Given the description of an element on the screen output the (x, y) to click on. 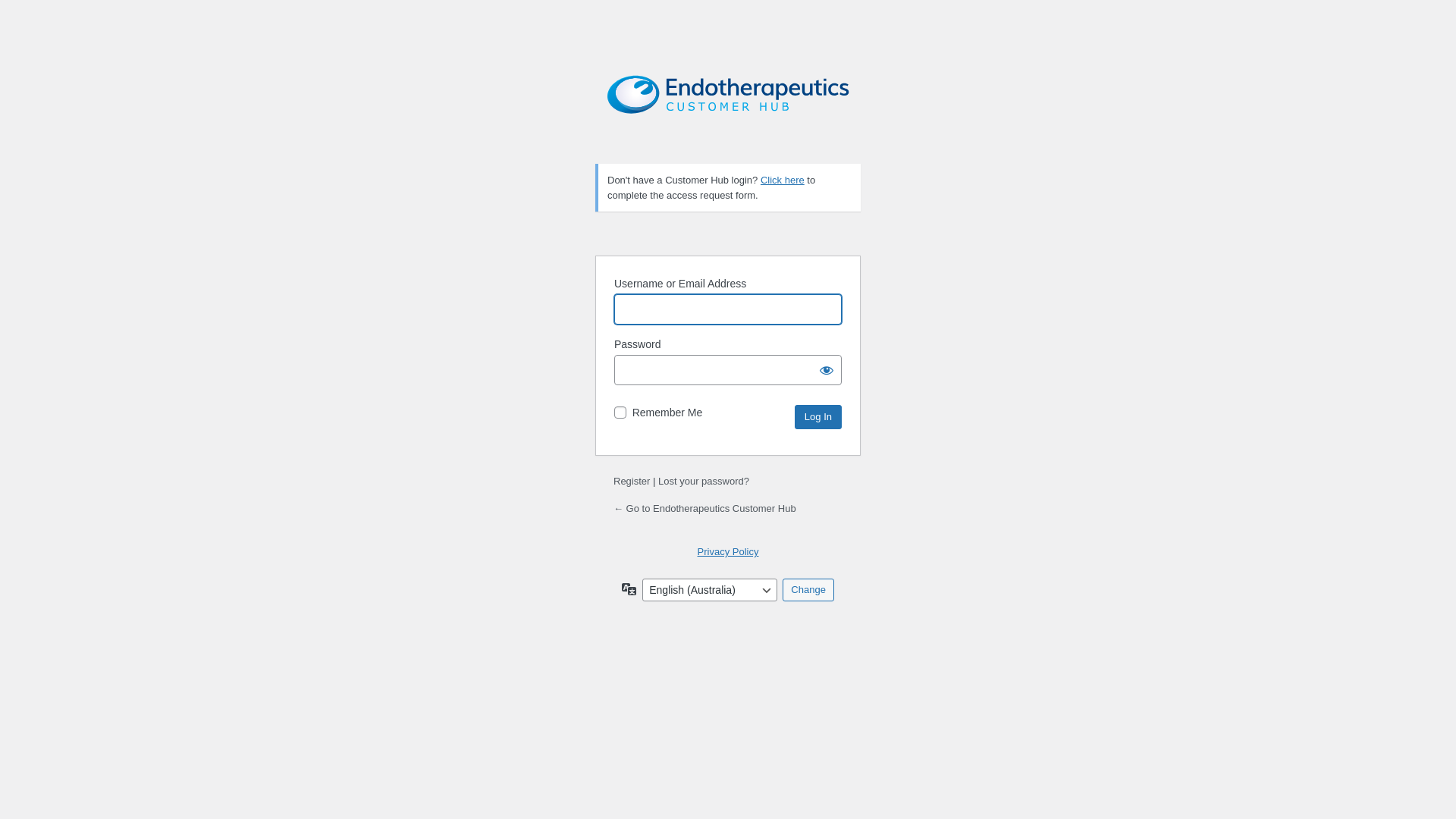
Log In Element type: text (817, 416)
Lost your password? Element type: text (703, 480)
Register Element type: text (631, 480)
Powered by WordPress Element type: text (727, 108)
Change Element type: text (808, 589)
Click here Element type: text (782, 179)
Privacy Policy Element type: text (728, 551)
